Given the description of an element on the screen output the (x, y) to click on. 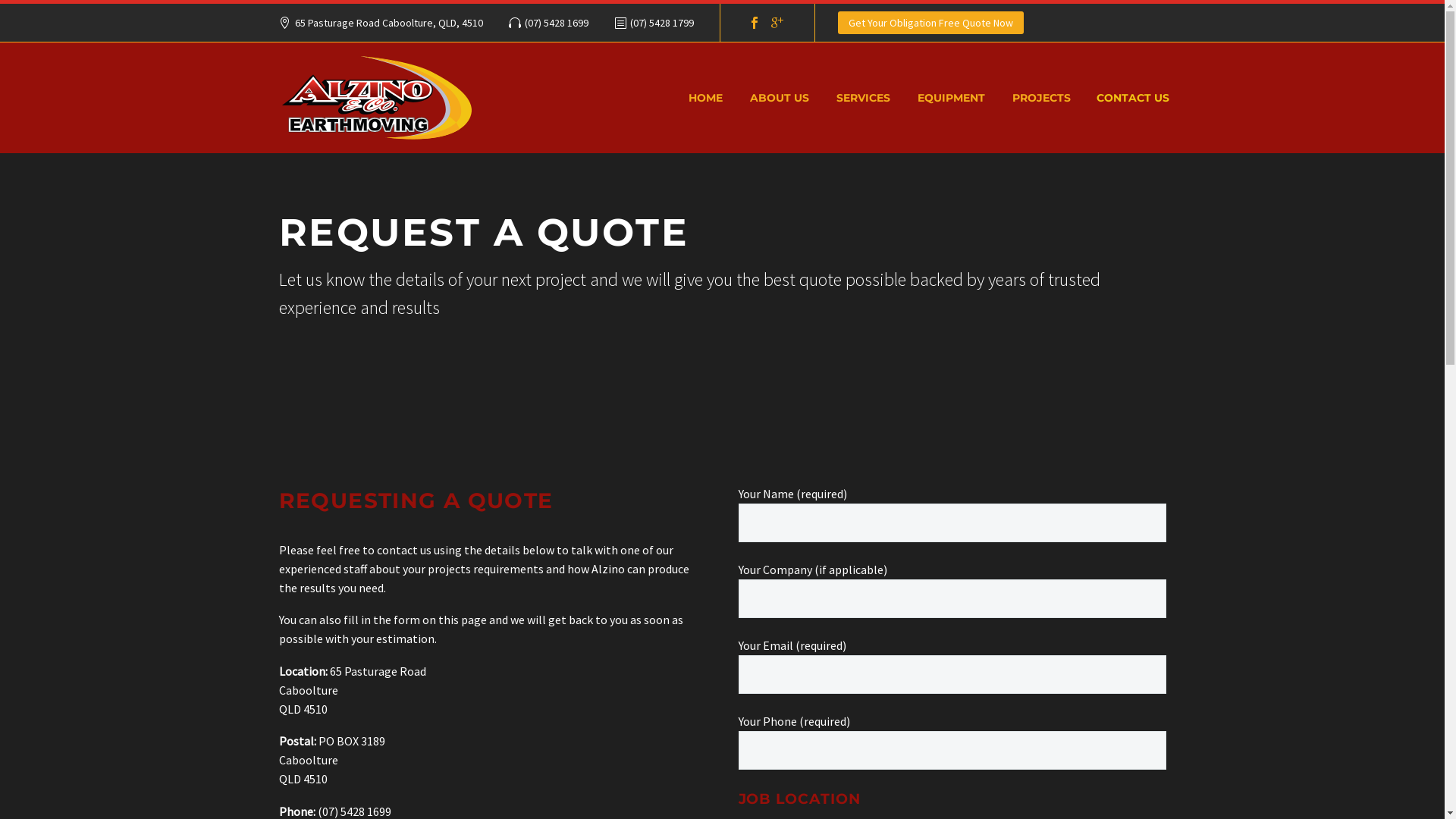
Get Your Obligation Free Quote Now Element type: text (930, 22)
HOME Element type: text (704, 96)
EQUIPMENT Element type: text (950, 96)
googleplus Element type: hover (776, 22)
ABOUT US Element type: text (779, 96)
PROJECTS Element type: text (1041, 96)
CONTACT US Element type: text (1131, 96)
facebook Element type: hover (754, 22)
SERVICES Element type: text (863, 96)
